Given the description of an element on the screen output the (x, y) to click on. 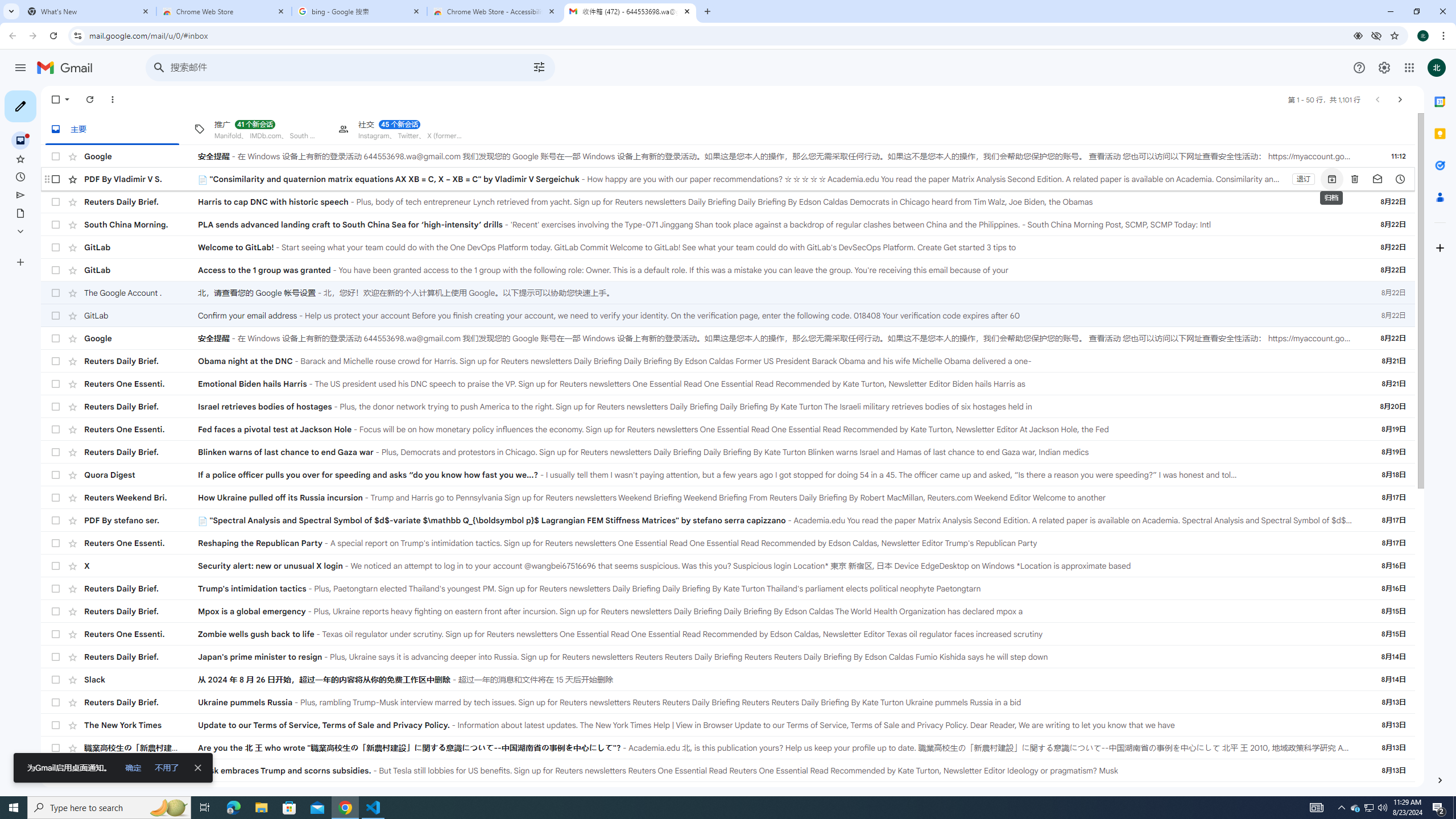
Reuters Weekend Bri. (141, 497)
